Given the description of an element on the screen output the (x, y) to click on. 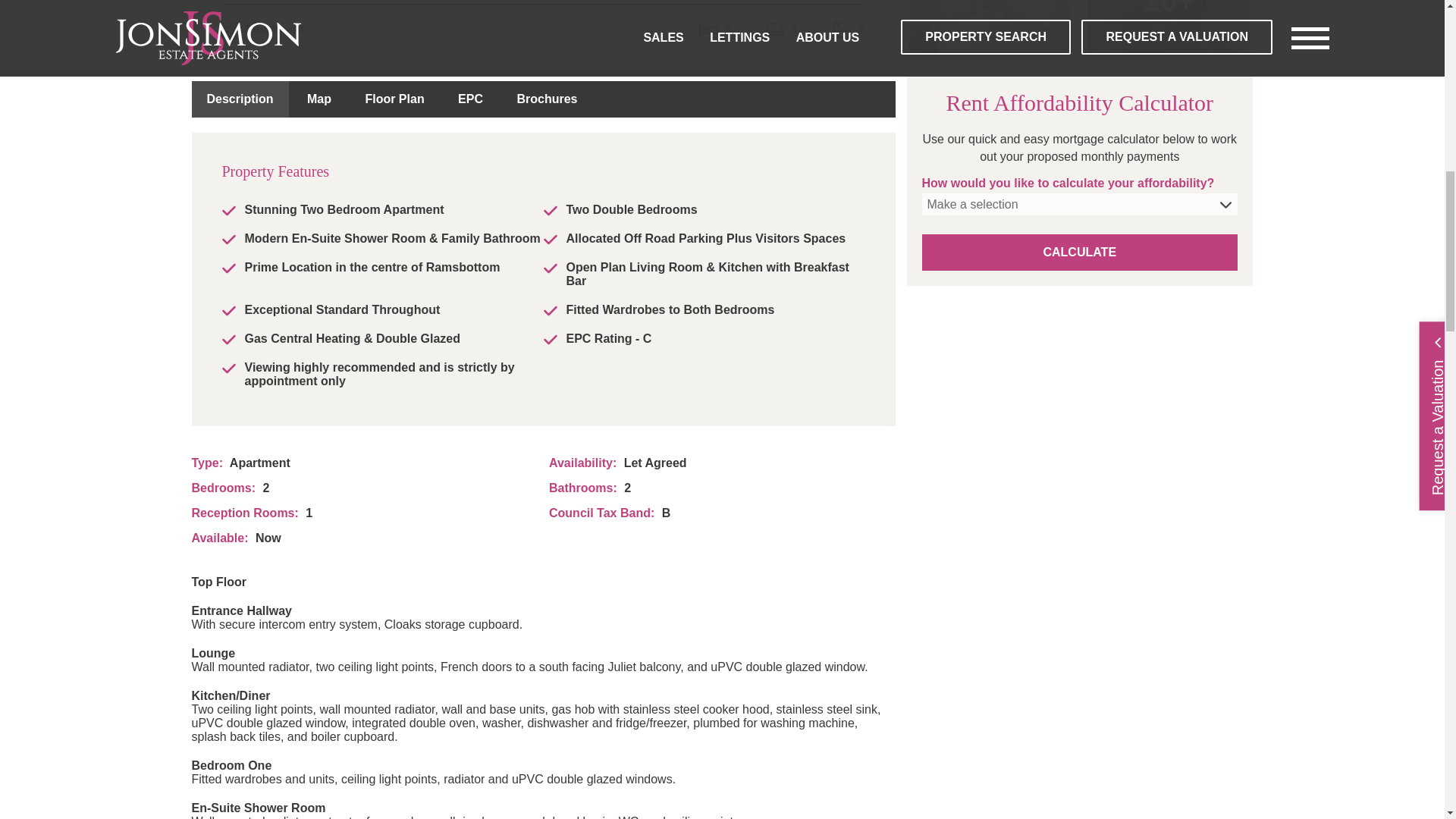
EPC (469, 99)
Map (319, 99)
Brochures (546, 99)
Floor Plan (394, 99)
Description (239, 99)
